Given the description of an element on the screen output the (x, y) to click on. 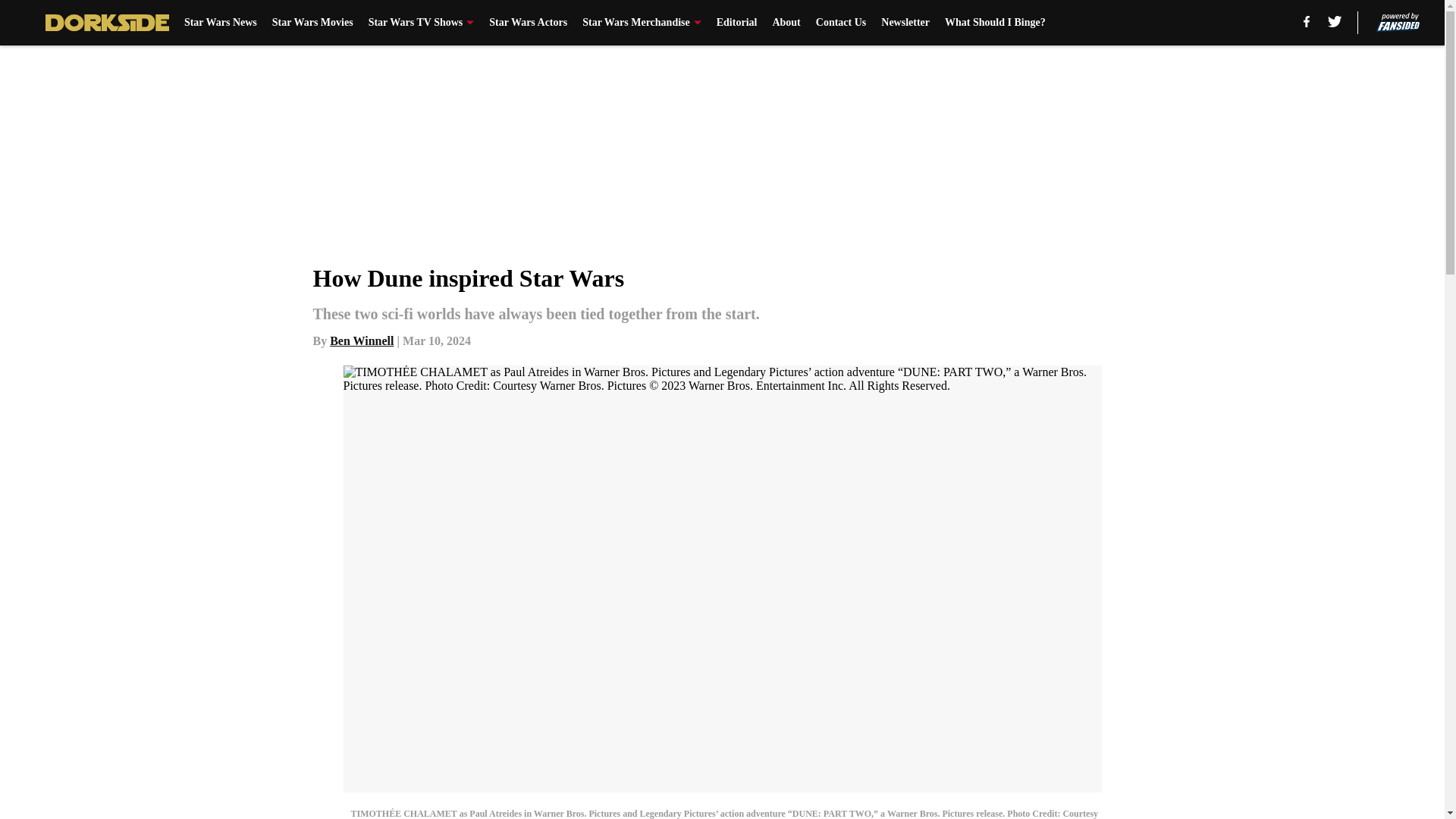
Star Wars TV Shows (421, 22)
Newsletter (905, 22)
Star Wars News (220, 22)
Star Wars Merchandise (641, 22)
About (785, 22)
Star Wars Movies (312, 22)
Star Wars Actors (528, 22)
Ben Winnell (361, 340)
Contact Us (840, 22)
What Should I Binge? (994, 22)
